Given the description of an element on the screen output the (x, y) to click on. 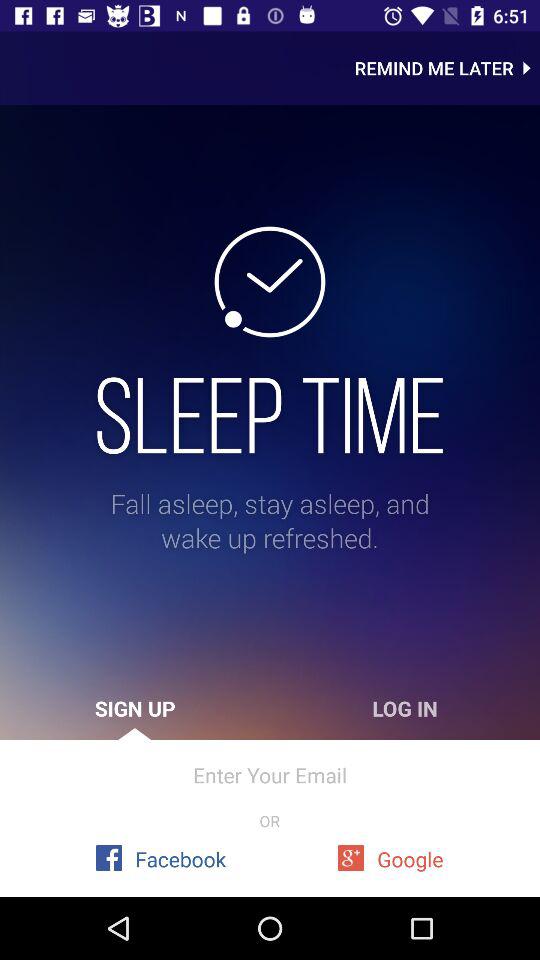
press icon to the left of log in (135, 707)
